Given the description of an element on the screen output the (x, y) to click on. 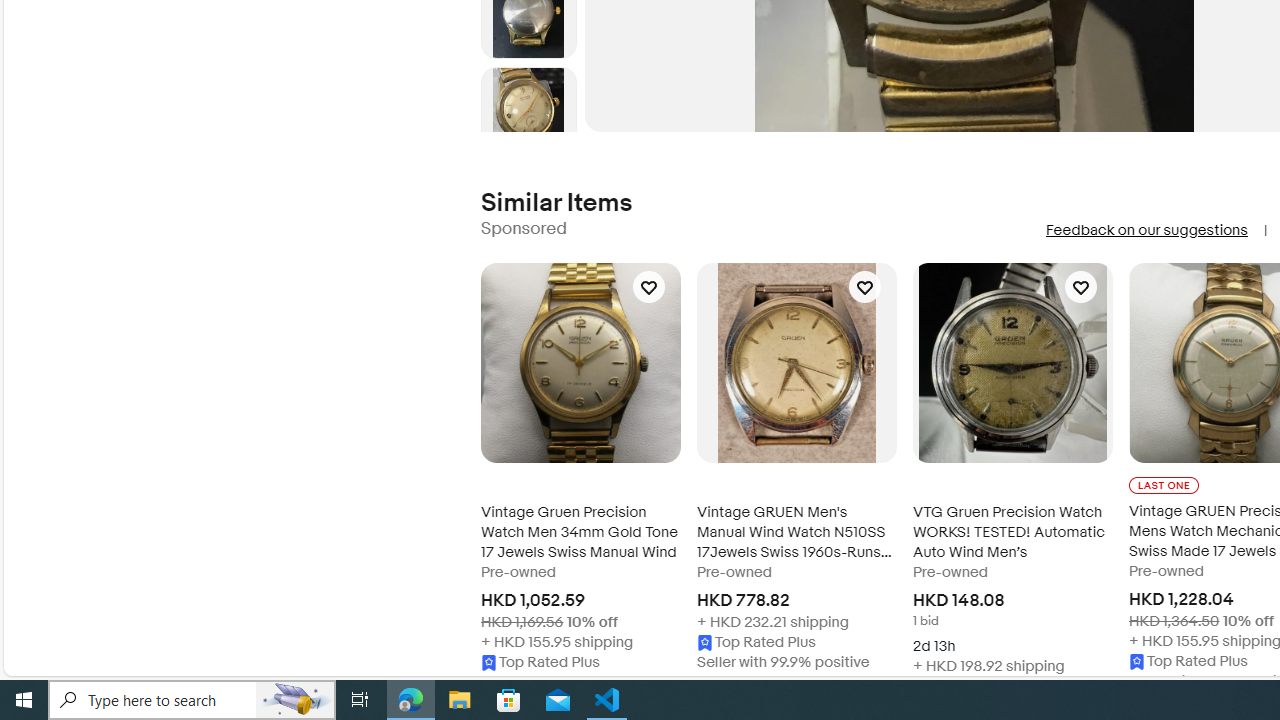
Next image - Item images thumbnails (528, 127)
Picture 5 of 13 (528, 114)
Feedback on our suggestions (1146, 229)
Picture 5 of 13 (528, 114)
